Given the description of an element on the screen output the (x, y) to click on. 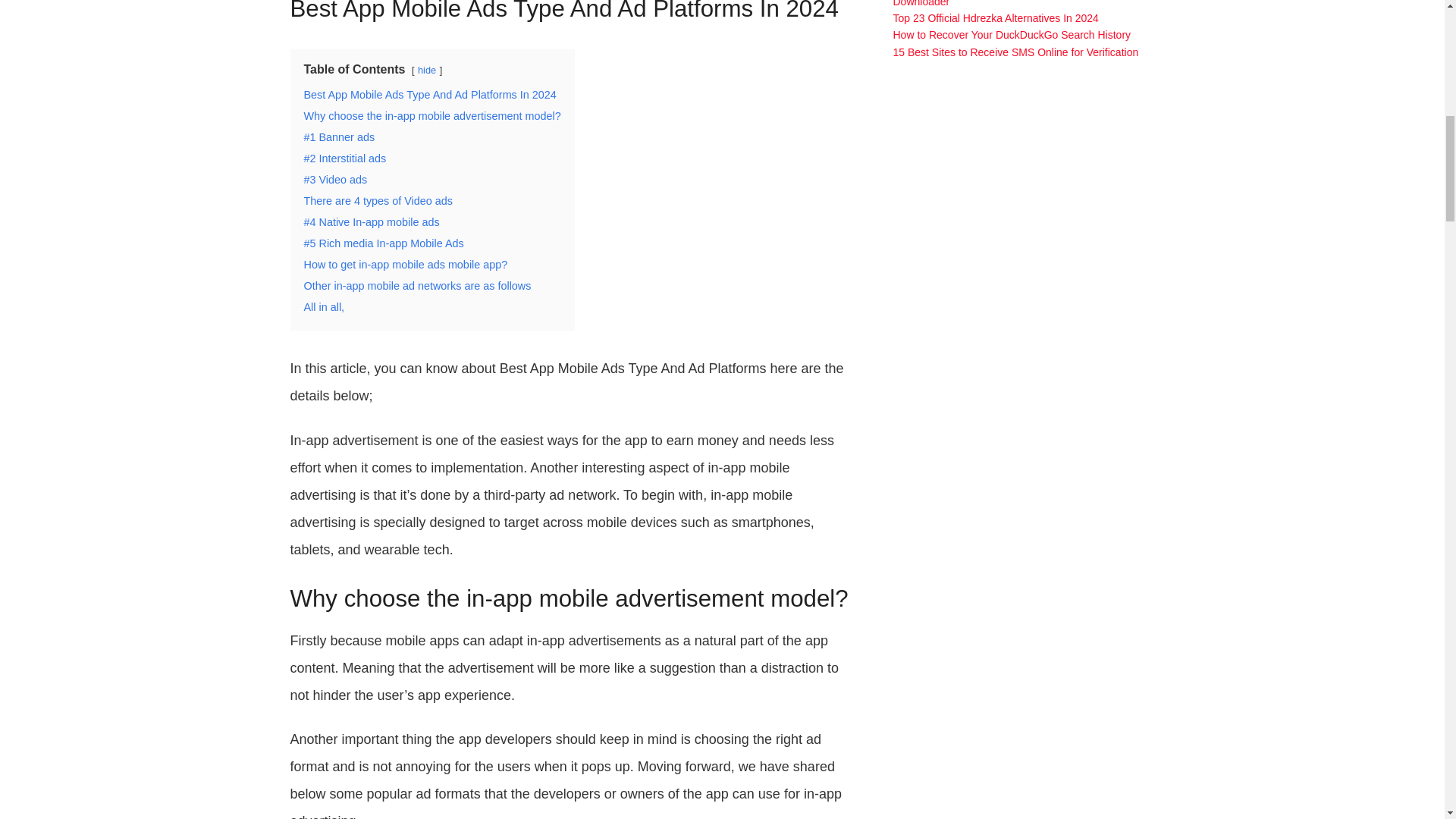
Best App Mobile Ads Type And Ad Platforms In 2024 (429, 94)
Why choose the in-app mobile advertisement model? (431, 115)
hide (426, 70)
